Given the description of an element on the screen output the (x, y) to click on. 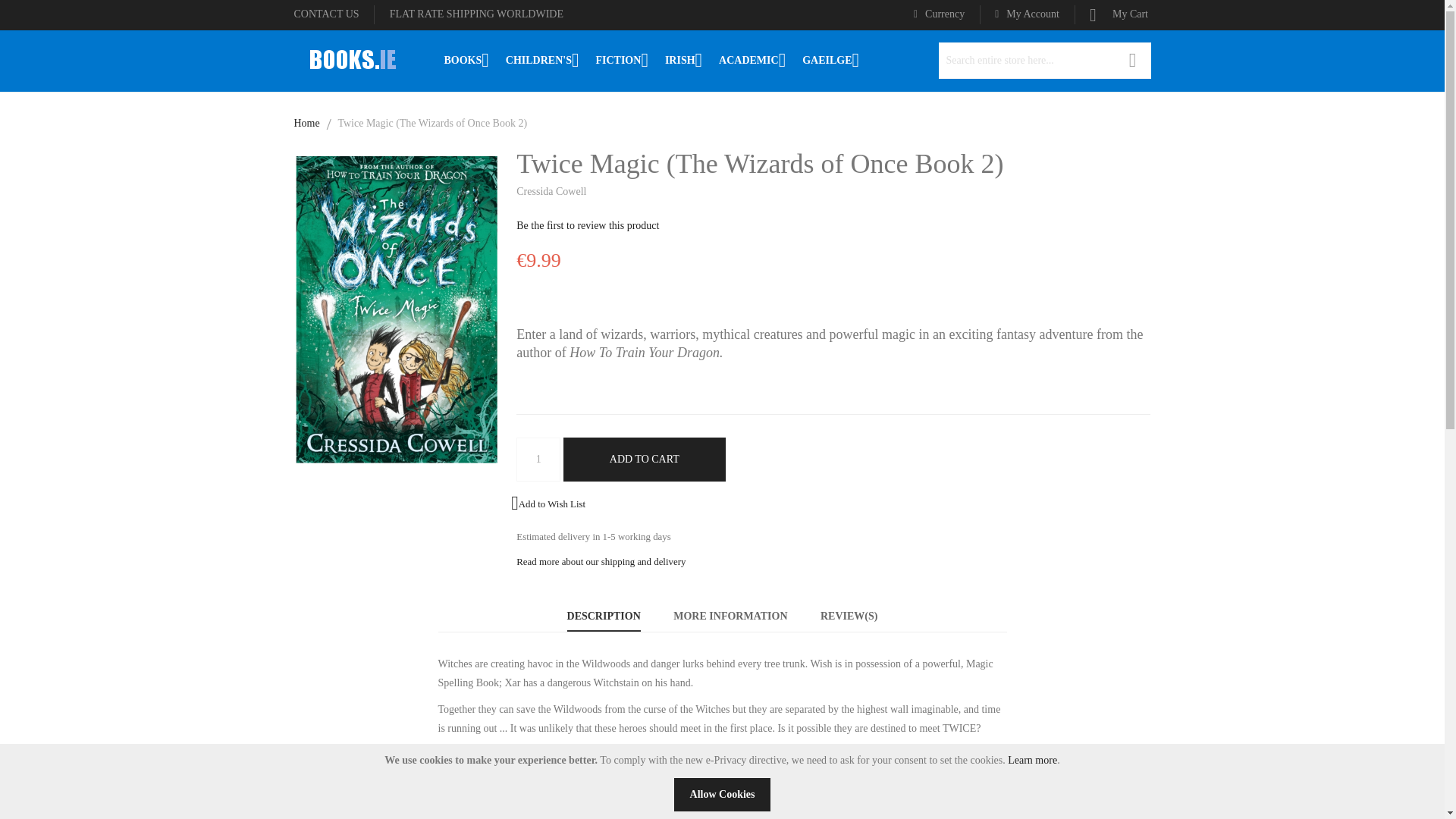
CONTACT US (326, 13)
Learn more (1032, 759)
Search (1133, 60)
1 (538, 459)
Add to Cart (644, 459)
Allow Cookies (722, 794)
BOOKS (465, 60)
Qty (538, 459)
My Cart (1120, 14)
Go to Home Page (307, 122)
FLAT RATE SHIPPING WORLDWIDE (476, 13)
BOOKS.IE (351, 59)
